Given the description of an element on the screen output the (x, y) to click on. 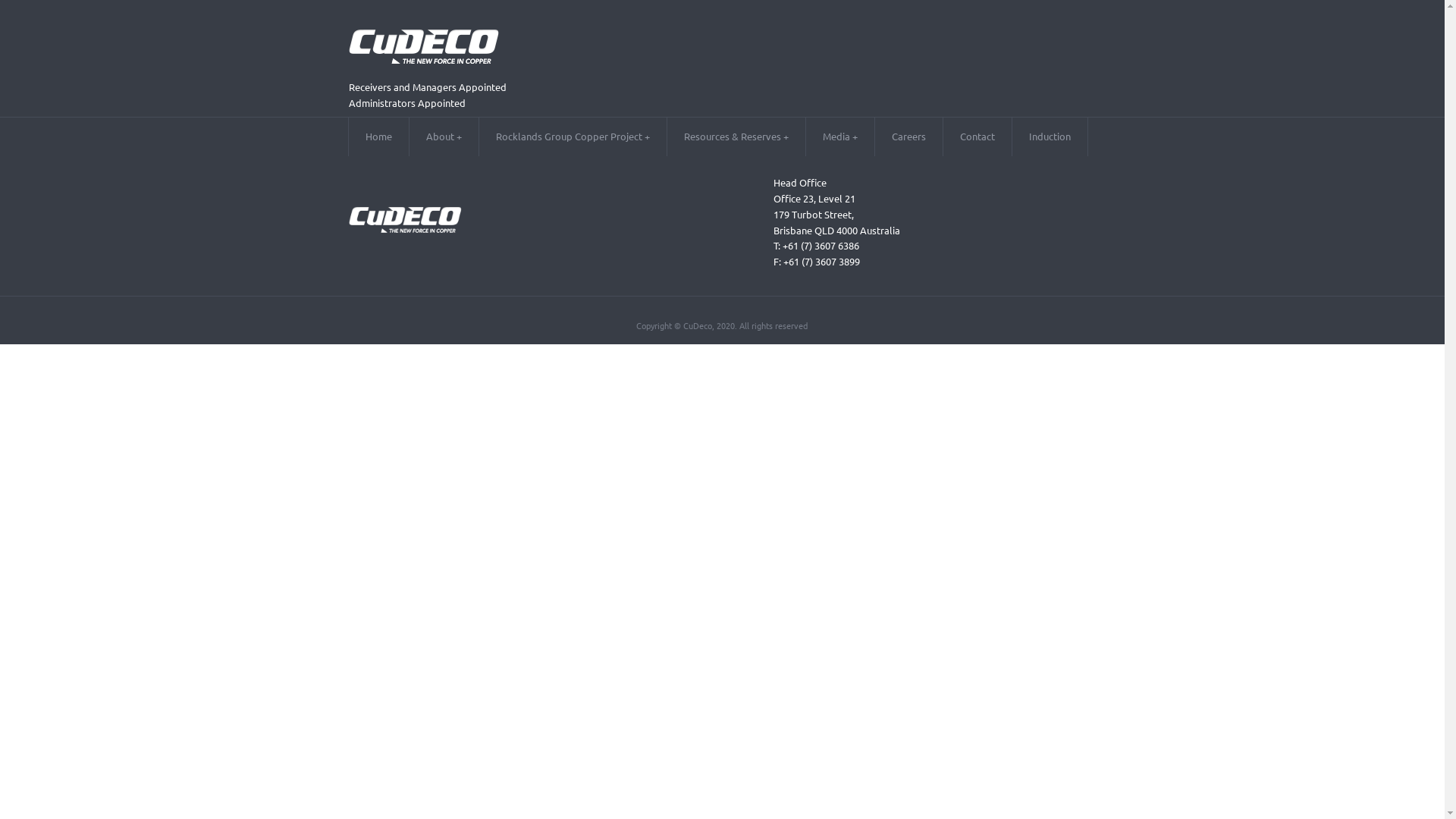
Contact Element type: text (977, 136)
Rocklands Group Copper Project + Element type: text (572, 136)
Careers Element type: text (908, 136)
Induction Element type: text (1049, 136)
Resources & Reserves + Element type: text (736, 136)
Home Element type: text (378, 136)
Media + Element type: text (840, 136)
About + Element type: text (443, 136)
